Given the description of an element on the screen output the (x, y) to click on. 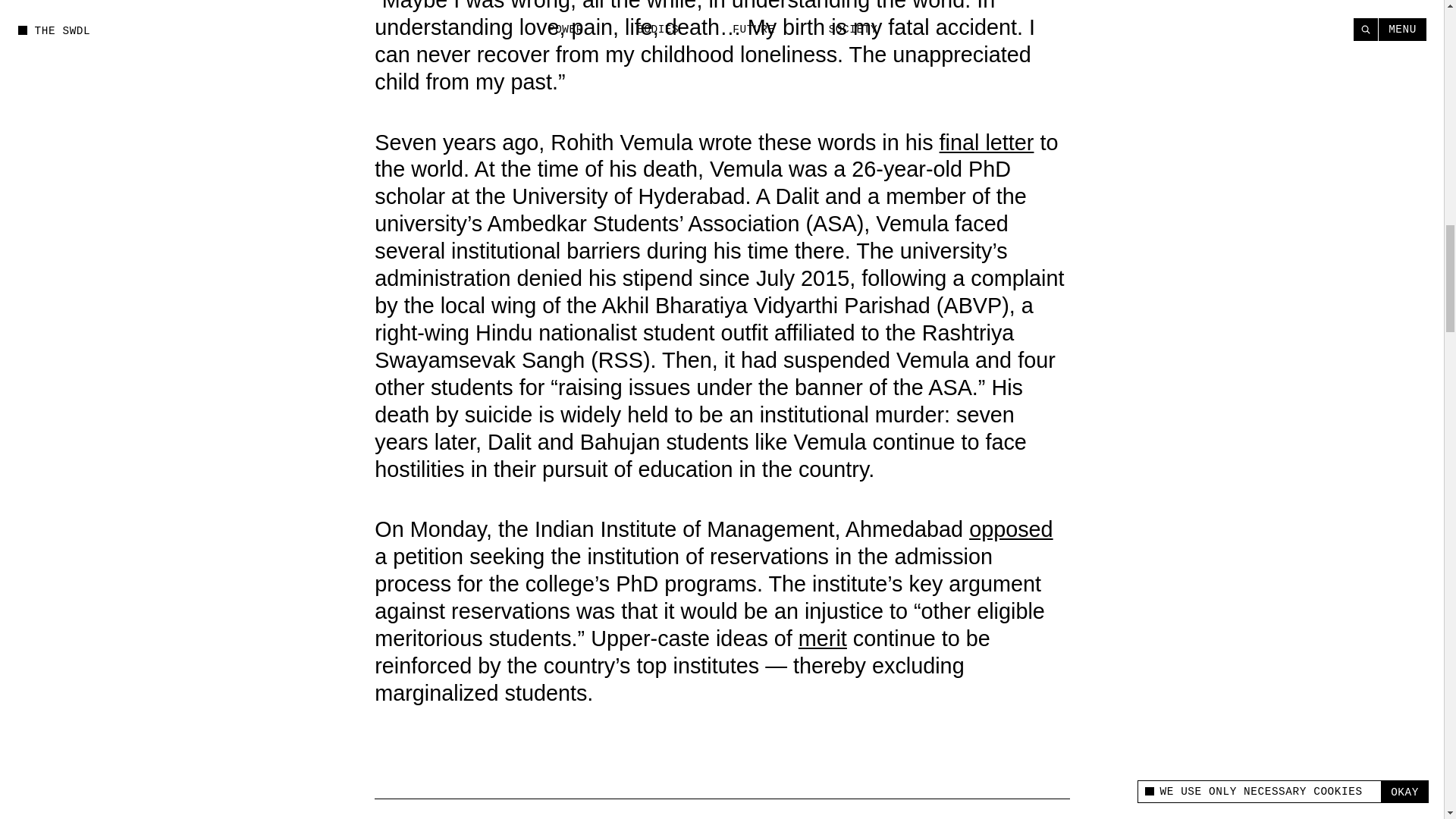
merit (822, 638)
opposed (1010, 528)
final letter (986, 142)
